Given the description of an element on the screen output the (x, y) to click on. 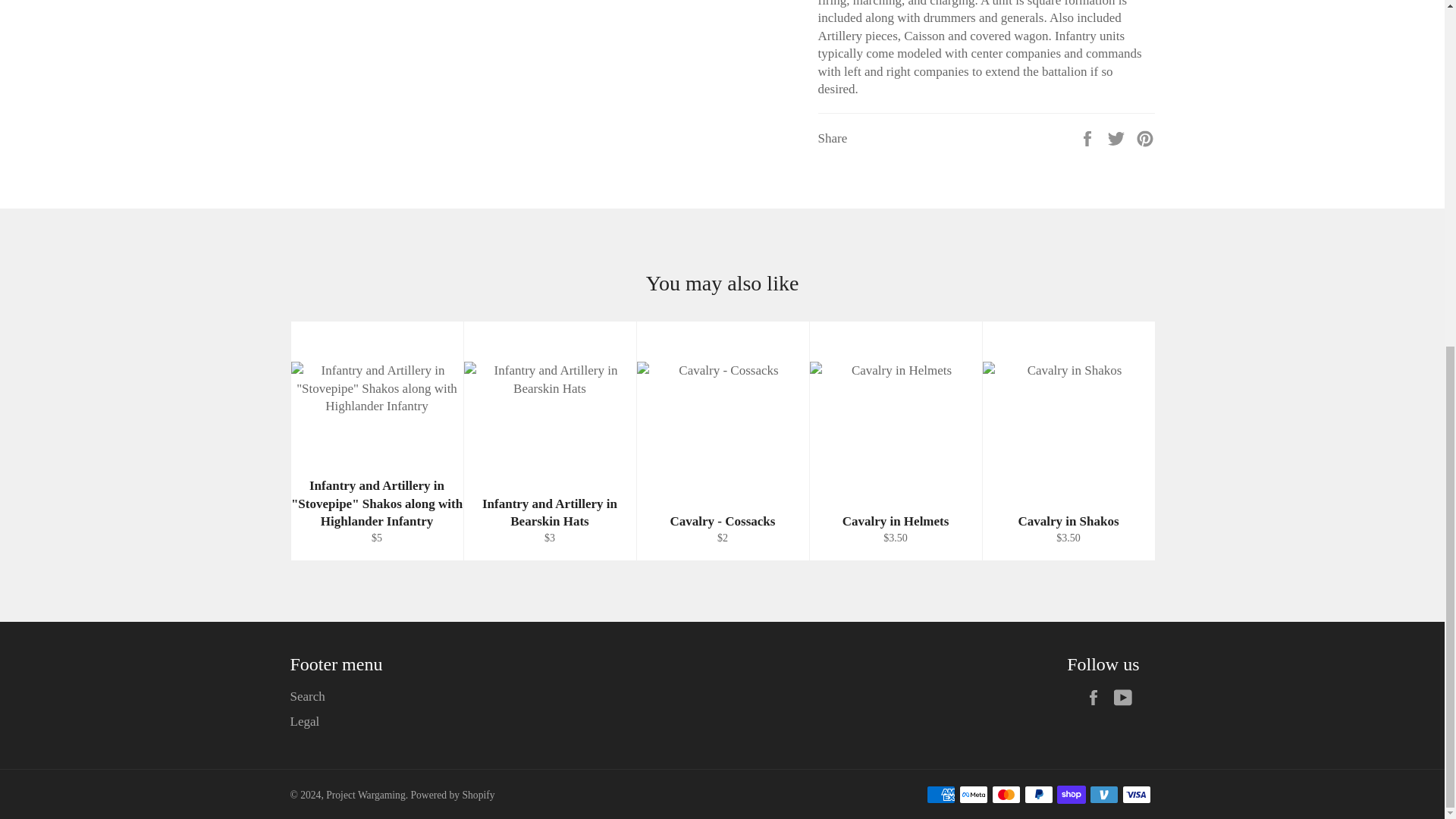
Tweet on Twitter (1117, 137)
Project Wargaming on YouTube (1125, 696)
Project Wargaming on Facebook (1096, 696)
Pin on Pinterest (1144, 137)
Share on Facebook (1088, 137)
